Given the description of an element on the screen output the (x, y) to click on. 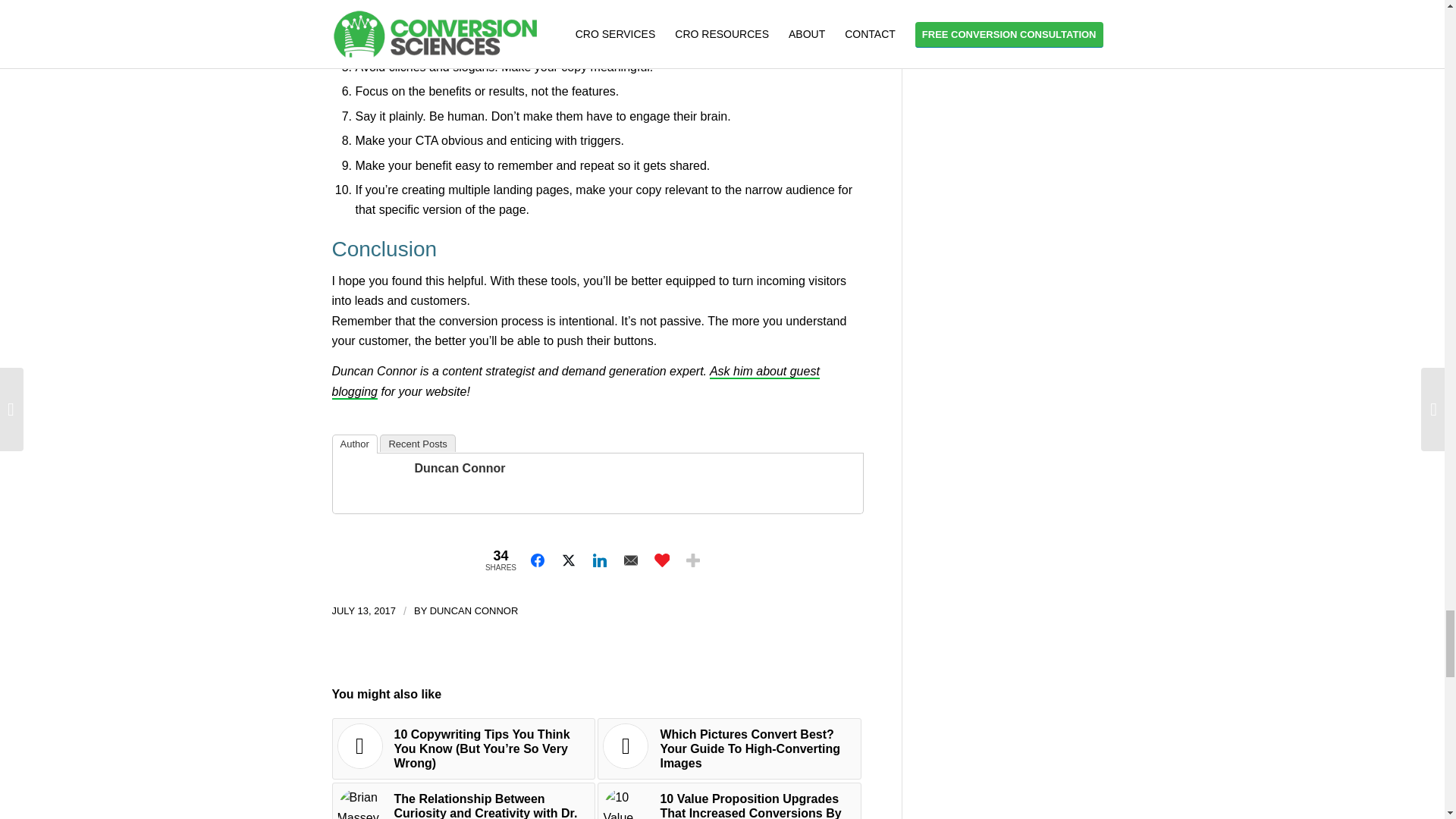
Share on Facebook (537, 560)
Ask him about guest blogging (575, 381)
Share on Love This (661, 560)
Share on More Button (692, 560)
Recent Posts (417, 443)
Share on Email (631, 560)
Share on Twitter (568, 560)
Author (354, 443)
Share on LinkedIn (599, 560)
Duncan Connor (459, 468)
